Given the description of an element on the screen output the (x, y) to click on. 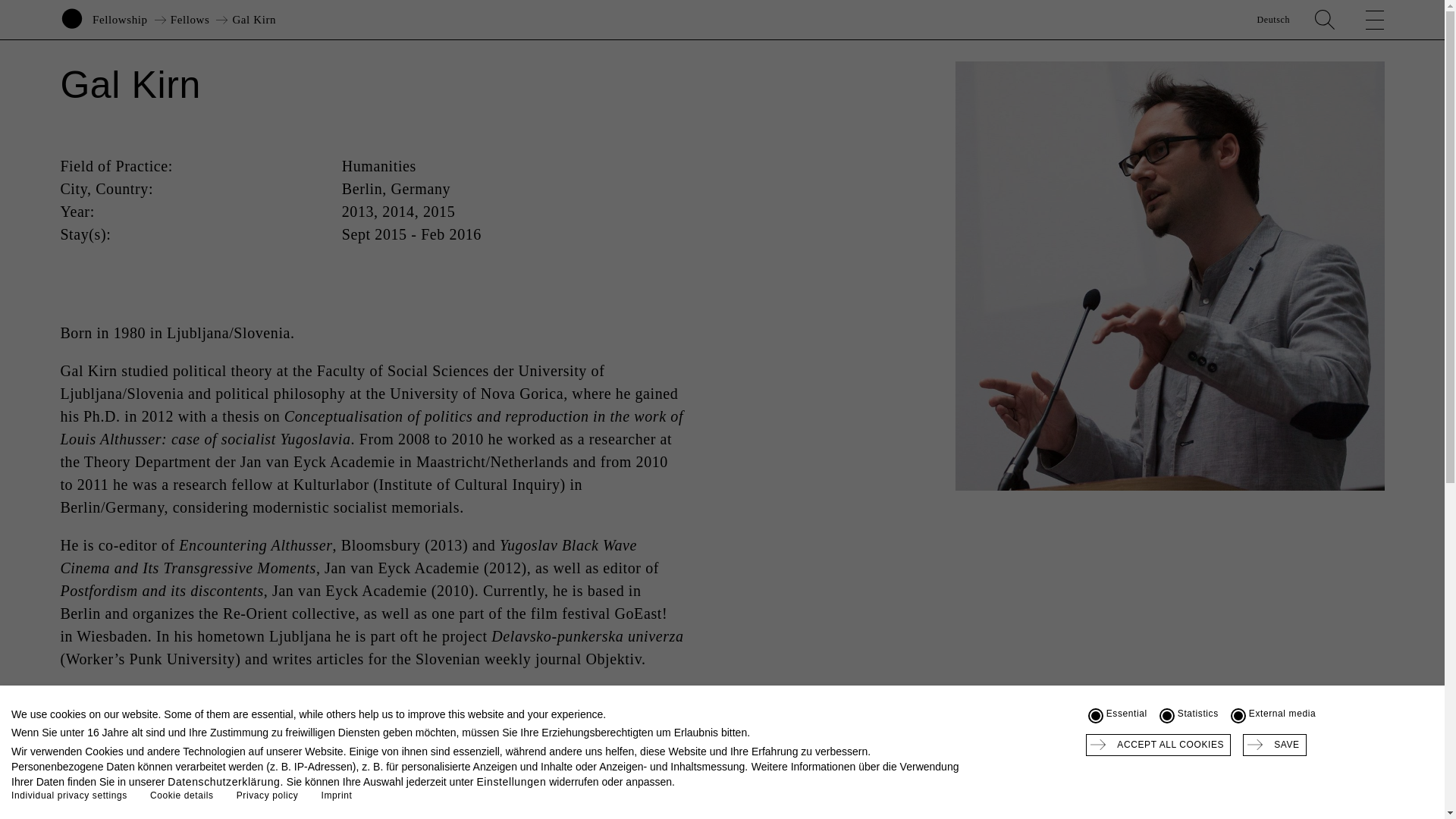
Tweet (1271, 805)
Deutsch (1273, 19)
Download (1388, 805)
Search (1323, 19)
Gal Kirn (253, 19)
Fellowship (120, 19)
Share on Facebook (1298, 805)
Fellows (189, 19)
Send email (1353, 805)
